Given the description of an element on the screen output the (x, y) to click on. 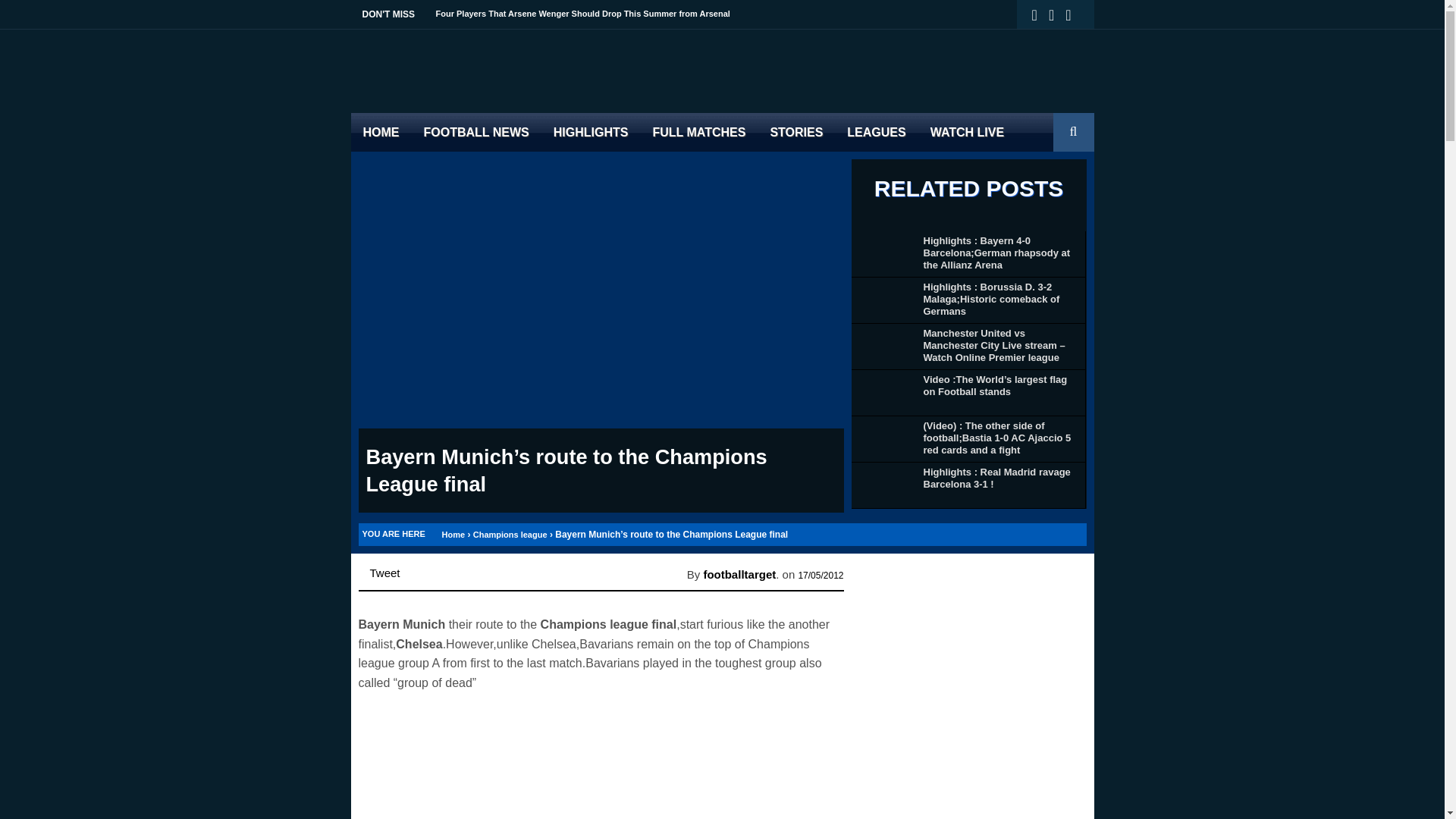
twitter (1040, 14)
WATCH LIVE (967, 132)
facebook (1056, 14)
SKIP TO CONTENT (362, 125)
HIGHLIGHTS (590, 132)
SEARCH (1074, 151)
